Given the description of an element on the screen output the (x, y) to click on. 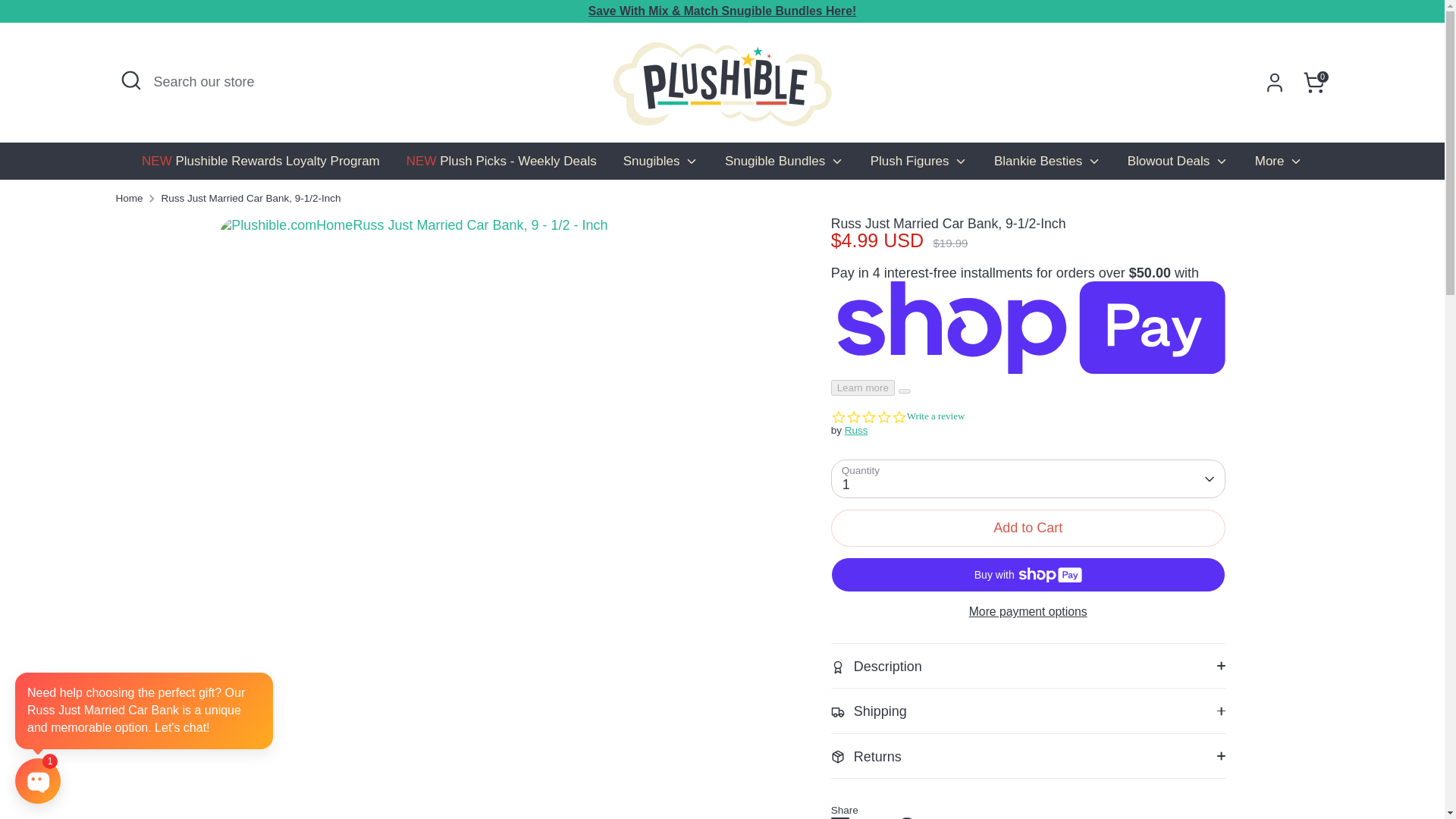
0 (1312, 82)
